Given the description of an element on the screen output the (x, y) to click on. 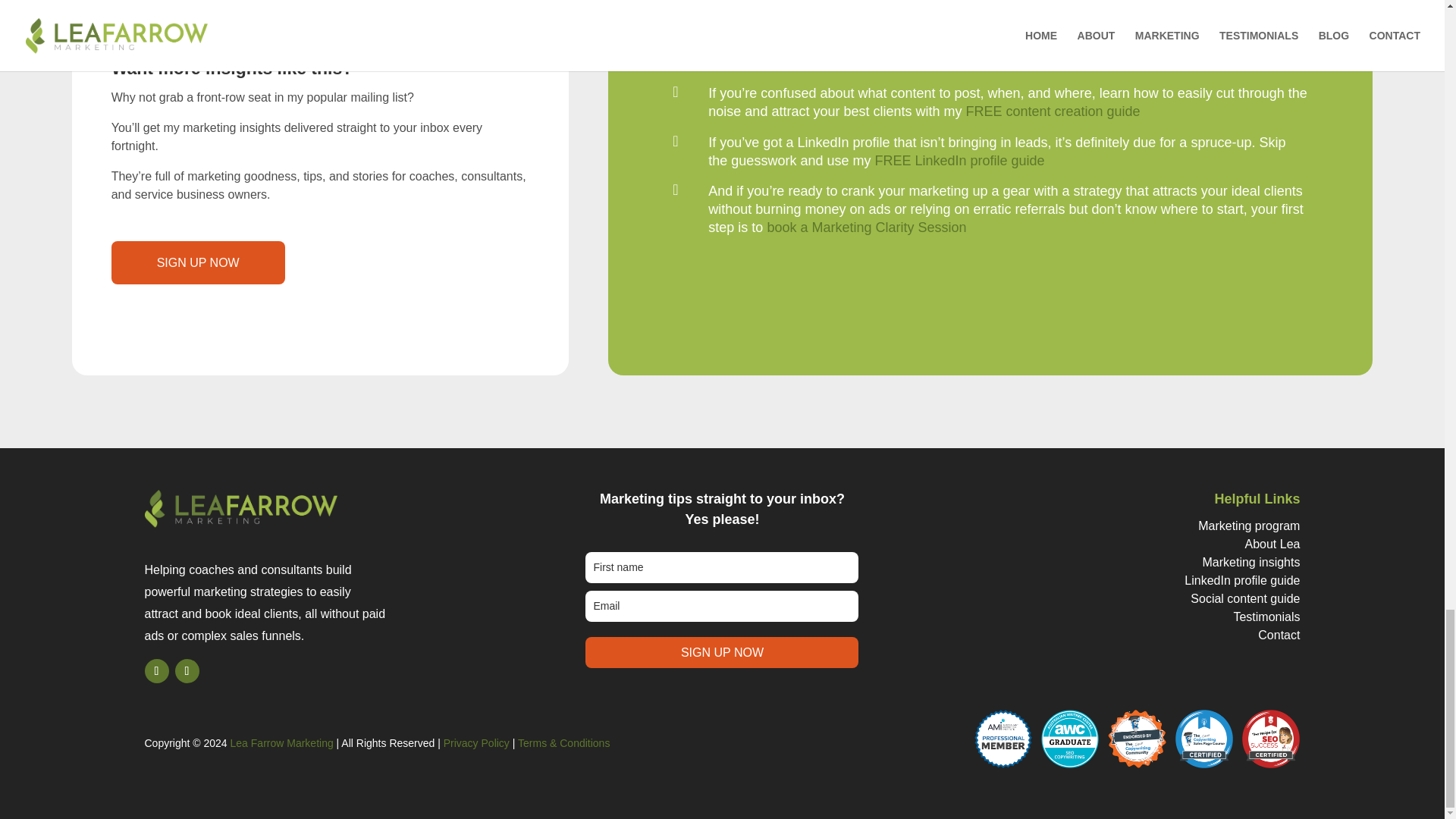
Marketing insights (1251, 562)
Follow on Pinterest (186, 671)
Marketing program (1249, 525)
Lea Farrow Marketing (281, 743)
SIGN UP NOW (198, 262)
SIGN UP NOW (722, 652)
Freelance-SEO-copywriter-TCCS-endorsed-badge (1137, 738)
Social content guide (1245, 598)
book a Marketing Clarity Session (866, 227)
Testimonials (1266, 616)
Contact (1278, 634)
LinkedIn profile guide (1242, 580)
Freelance-SEO-copywriter-The Recipe for SEO Success badge (1270, 738)
About Lea (1272, 543)
